Given the description of an element on the screen output the (x, y) to click on. 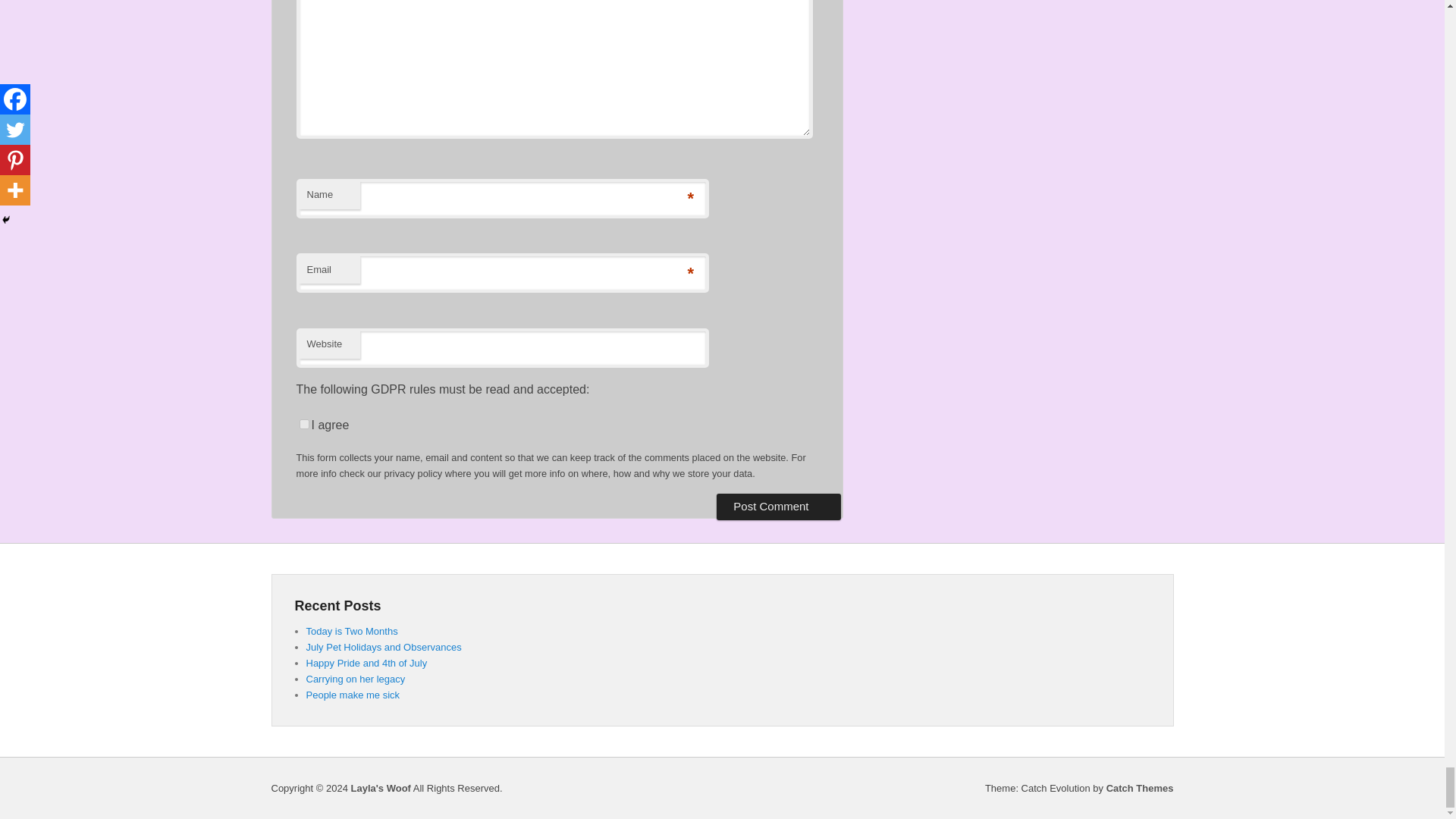
Layla's Woof (380, 787)
1 (303, 424)
Catch Themes (1139, 787)
Post Comment (778, 506)
